Given the description of an element on the screen output the (x, y) to click on. 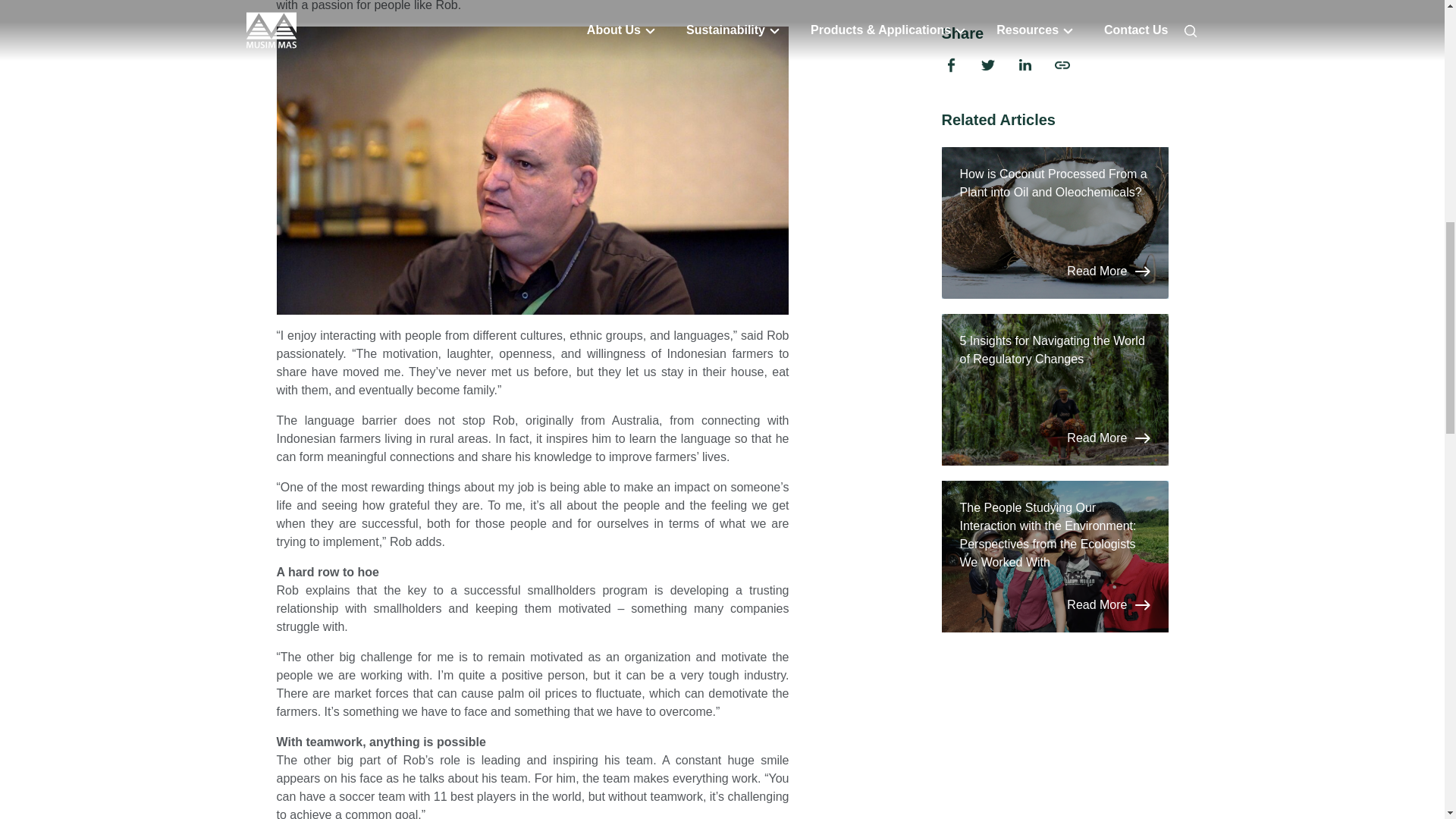
5 Insights for Navigating the World of Regulatory Changes (1055, 203)
